Given the description of an element on the screen output the (x, y) to click on. 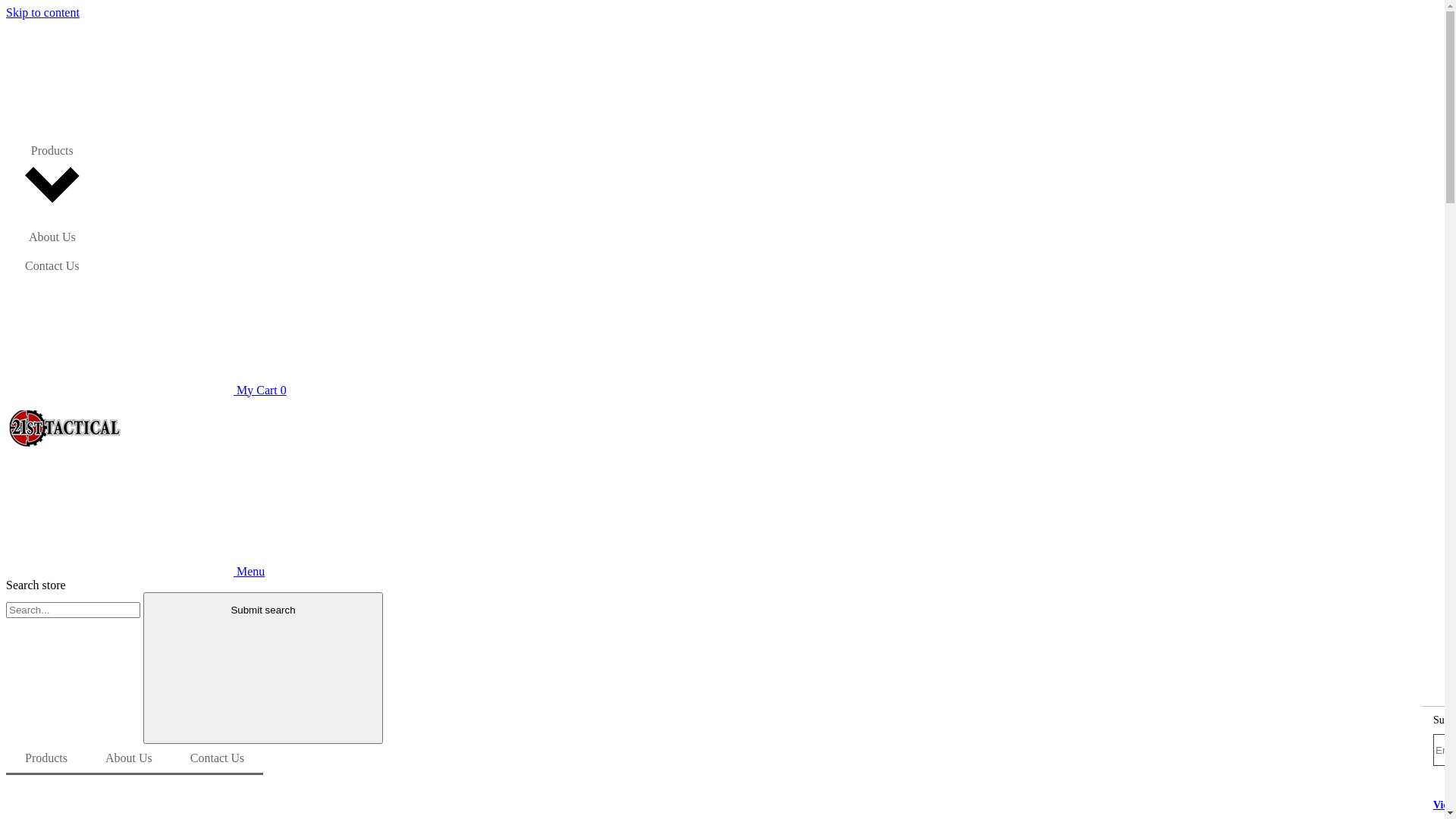
About Us Element type: text (52, 236)
My Cart 0 Element type: text (146, 389)
Submit search Element type: text (262, 668)
About Us Element type: text (128, 759)
Contact Us Element type: text (52, 265)
Contact Us Element type: text (217, 759)
21st Tactical Element type: hover (65, 427)
Menu Element type: text (135, 570)
Skip to content Element type: text (42, 12)
Products Element type: text (46, 759)
Products Element type: text (52, 179)
